Given the description of an element on the screen output the (x, y) to click on. 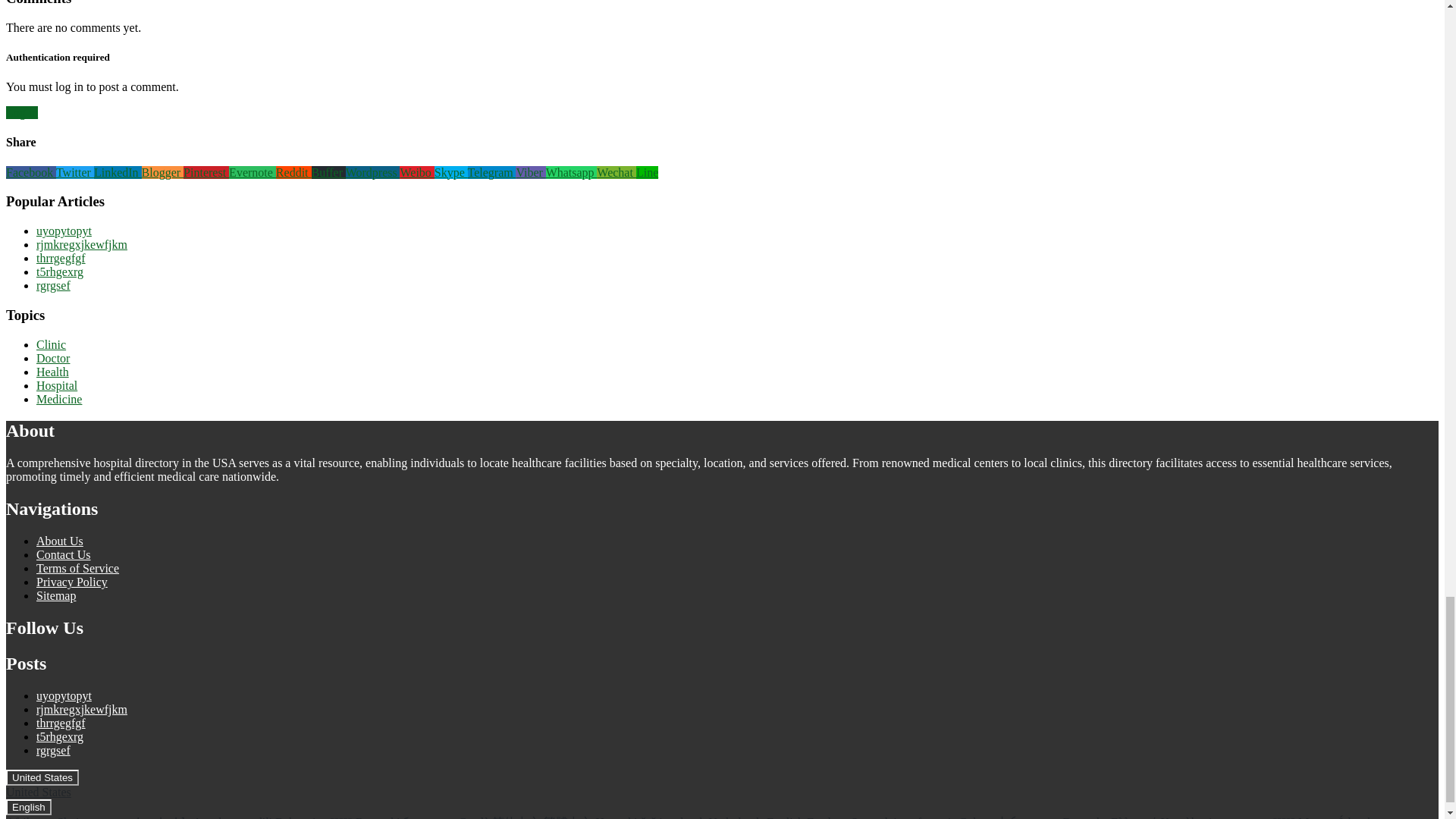
uyopytopyt (63, 230)
Line (647, 172)
Viber (529, 172)
Facebook (30, 172)
rgrgsef (52, 285)
Pinterest (205, 172)
Skype (450, 172)
Clinic (50, 343)
Weibo (415, 172)
thrrgegfgf (60, 257)
